Given the description of an element on the screen output the (x, y) to click on. 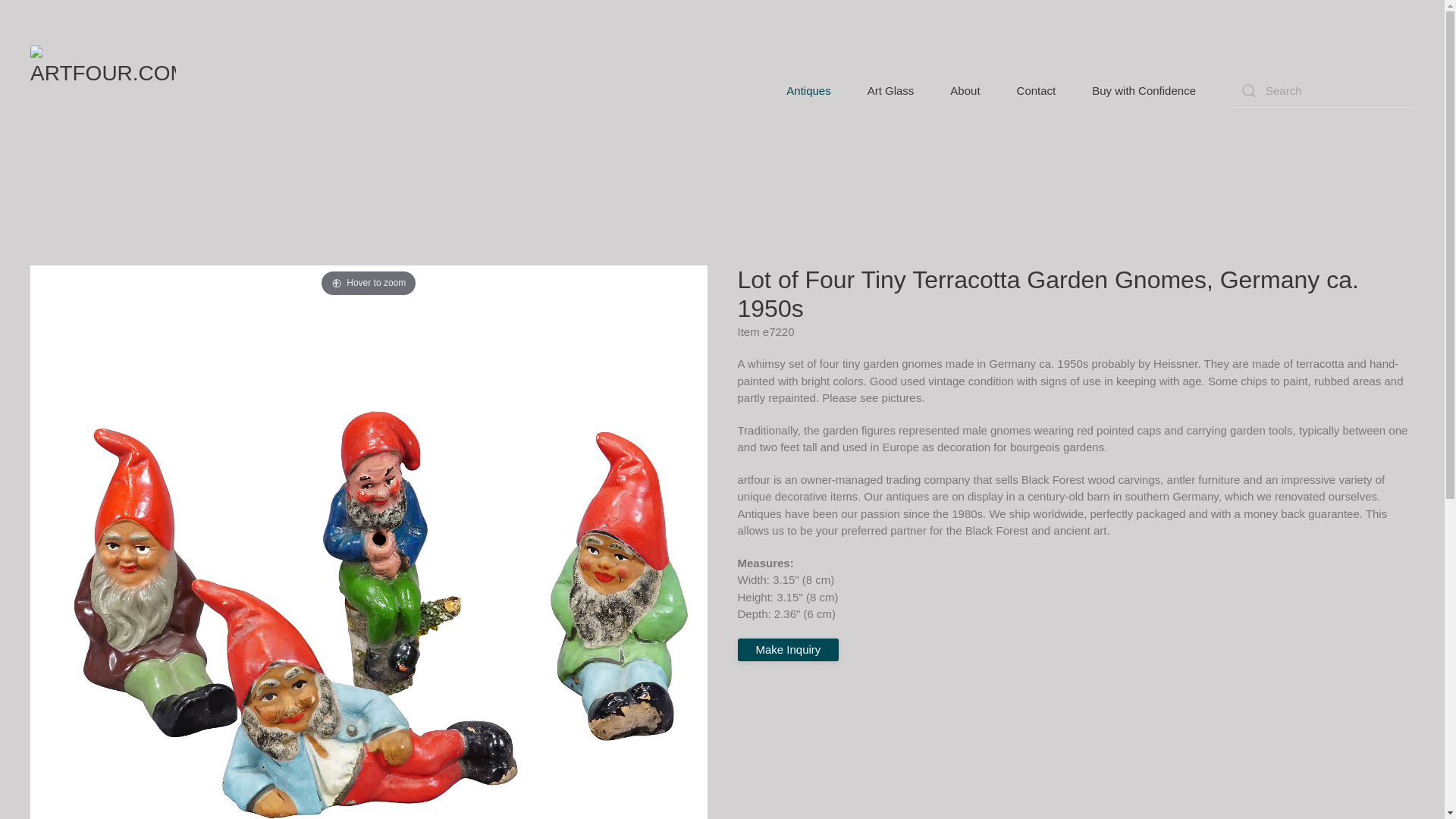
Buy with Confidence (1143, 90)
